Given the description of an element on the screen output the (x, y) to click on. 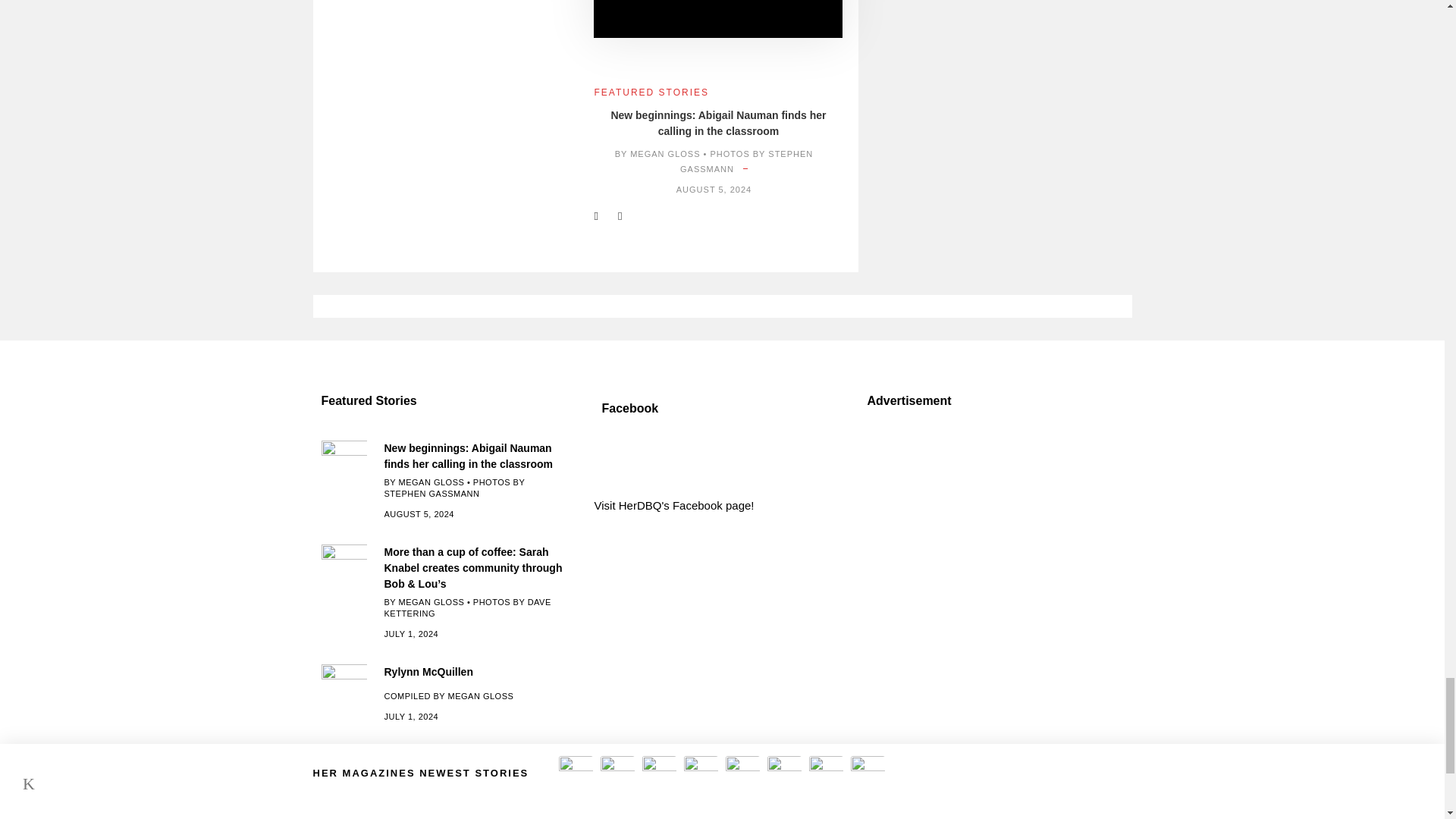
Abigail Nauman (718, 18)
FEATURED STORIES (651, 91)
